Given the description of an element on the screen output the (x, y) to click on. 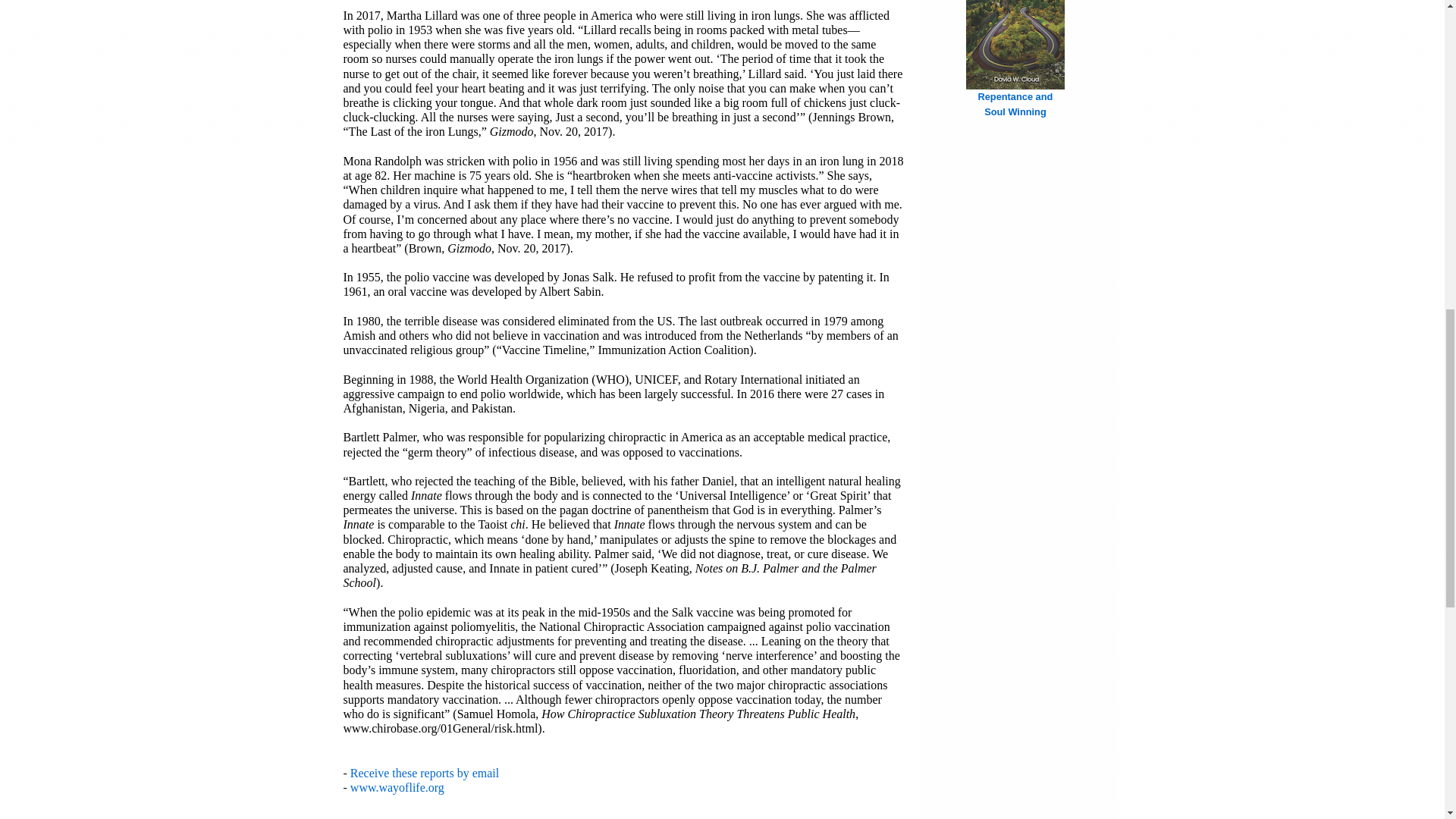
www.wayoflife.org (397, 787)
Receive these reports by email (424, 772)
